Given the description of an element on the screen output the (x, y) to click on. 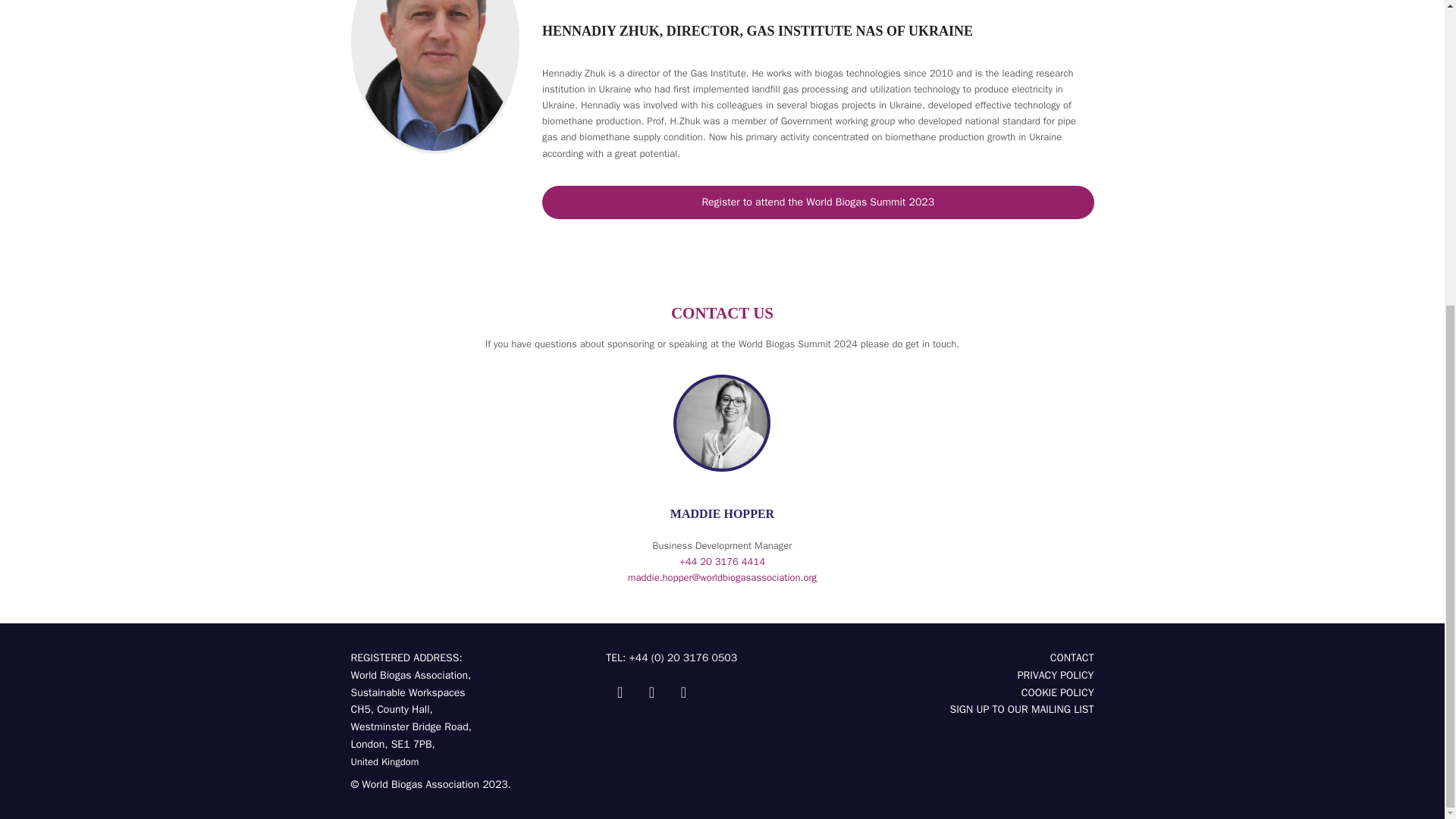
COOKIE POLICY (1058, 692)
YouTube (683, 686)
Call (722, 561)
LinkedIn (651, 686)
LinkedIn (651, 686)
SIGN UP TO OUR MAILING LIST (1021, 708)
YouTube (683, 686)
Twitter (619, 686)
Share by Email (1021, 708)
CONTACT (1071, 657)
maddie's headshot (722, 422)
Register to attend the World Biogas Summit 2023 (817, 202)
PRIVACY POLICY (1055, 675)
Hennadiy-removebg-preview (434, 75)
Twitter (619, 686)
